Given the description of an element on the screen output the (x, y) to click on. 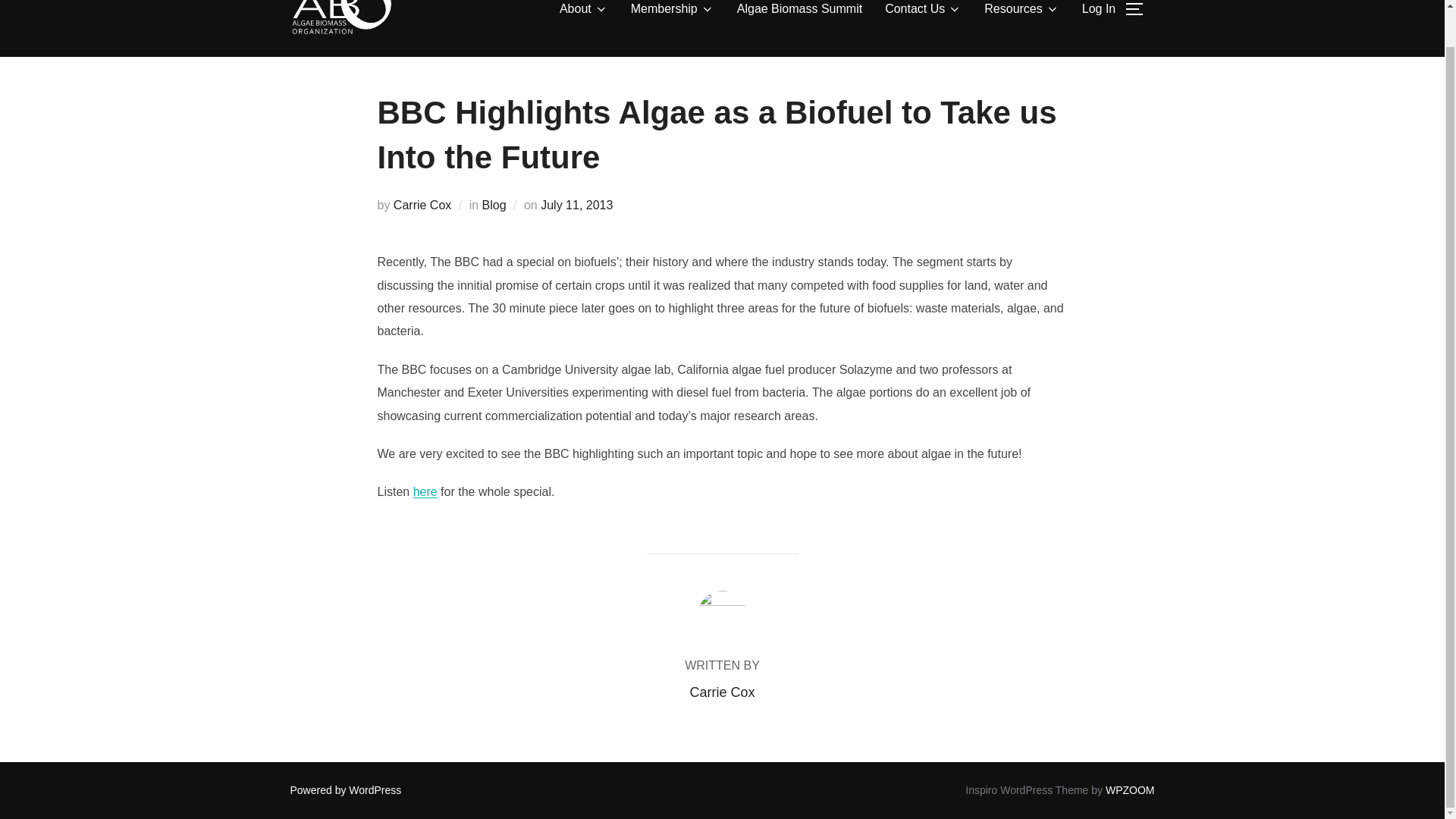
Carrie Cox (422, 205)
About (583, 11)
Contact Us (922, 11)
Log In (1098, 11)
Posts by Carrie Cox (721, 692)
Membership (672, 11)
Resources (1021, 11)
Algae Biomass Summit (798, 11)
